Given the description of an element on the screen output the (x, y) to click on. 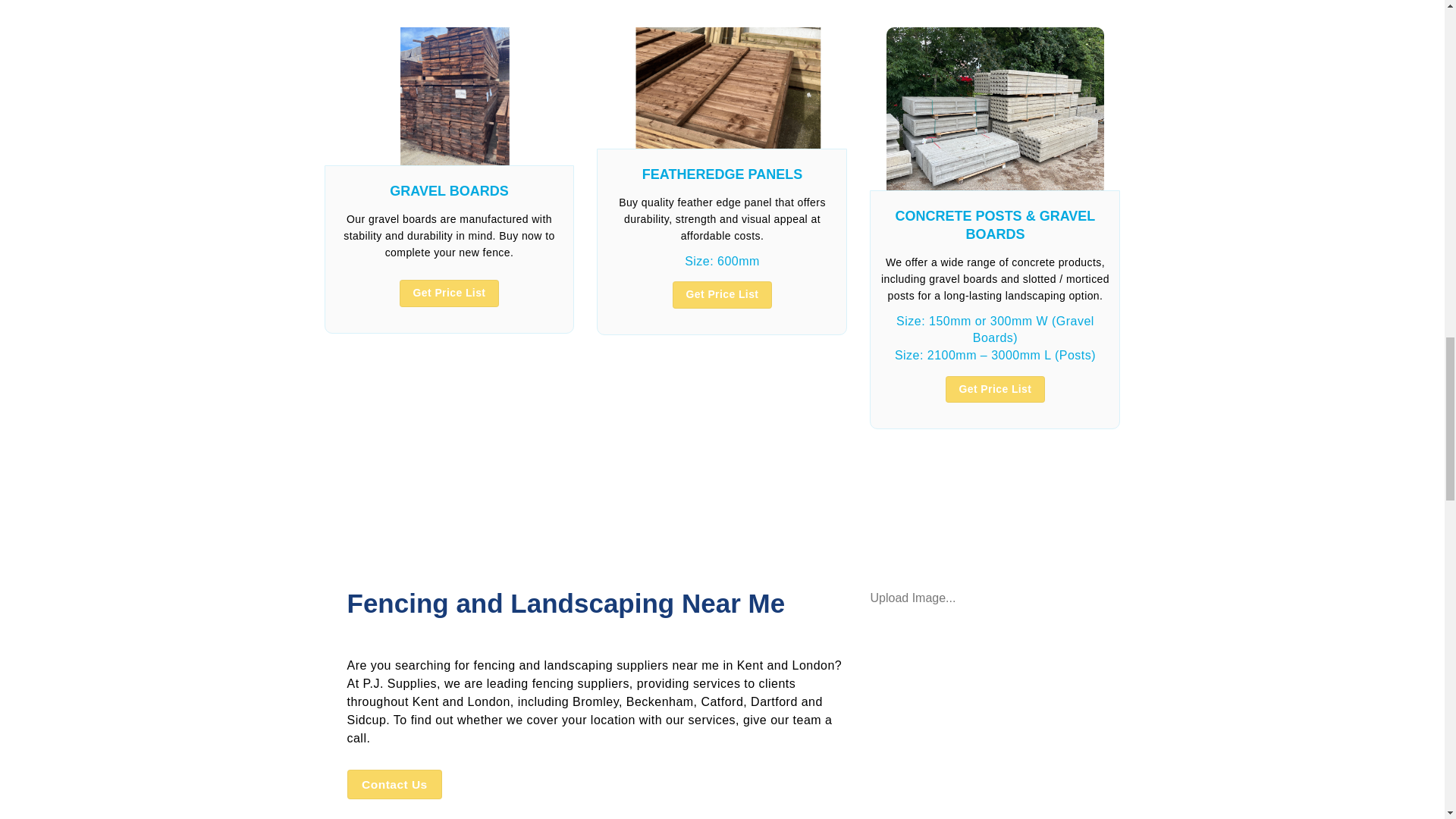
Contact Us (394, 784)
Get Price List (994, 389)
Get Price List (721, 294)
Get Price List (448, 293)
